Given the description of an element on the screen output the (x, y) to click on. 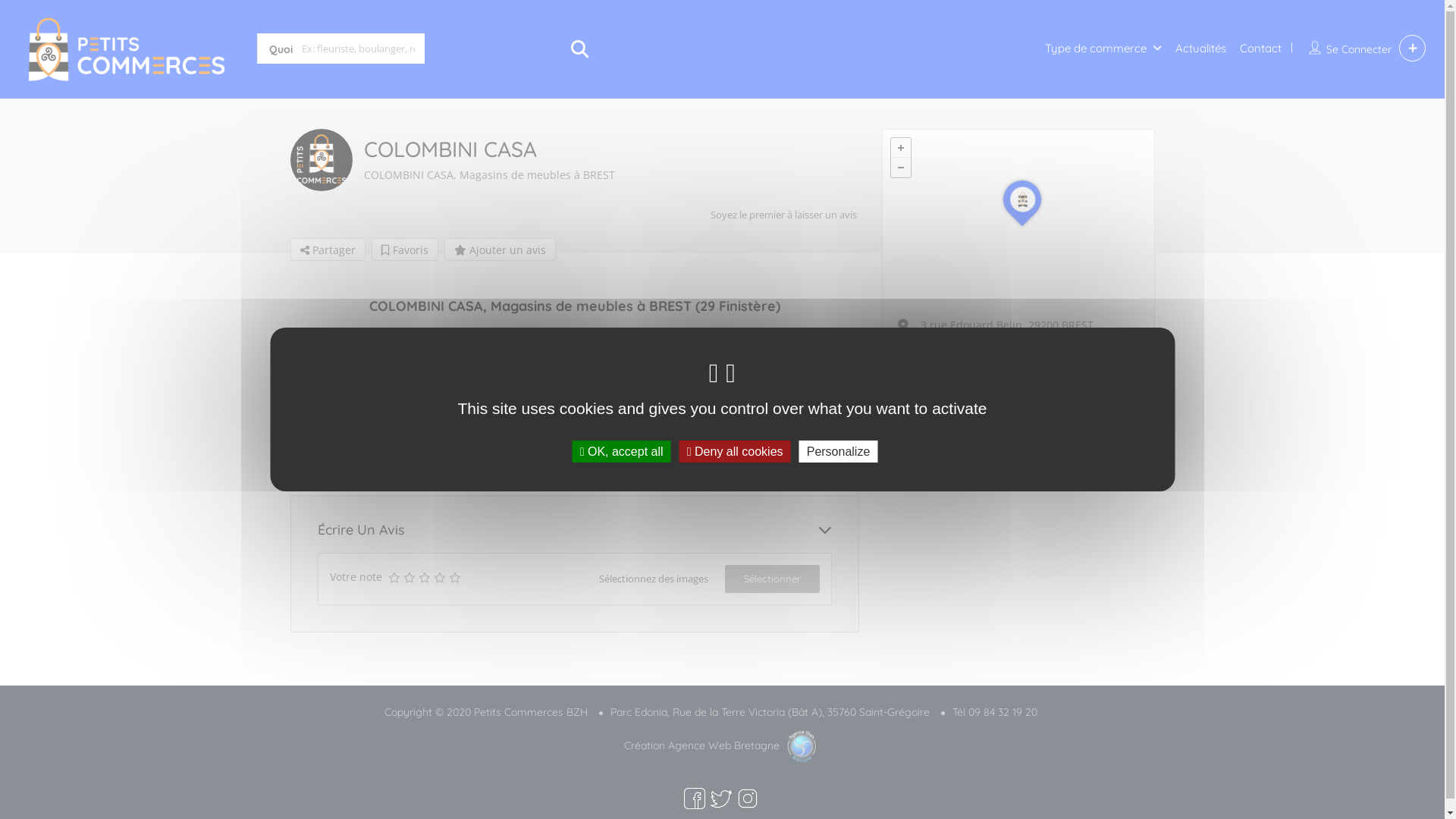
Personalize Element type: text (838, 451)
Comment y aller ? Element type: text (967, 362)
Se Connecter Element type: text (1358, 49)
Revendiquer votre commerce maintenant! Element type: text (583, 592)
0230130427 Element type: text (950, 395)
OK, accept all Element type: text (621, 451)
- Element type: text (900, 167)
Soumettre Element type: text (425, 502)
Partager Element type: text (326, 249)
Favoris Element type: text (404, 249)
Contact Element type: text (1260, 47)
Ajouter un avis Element type: text (499, 249)
Type de commerce Element type: text (1095, 47)
+ Element type: text (900, 147)
Deny all cookies Element type: text (734, 451)
